Given the description of an element on the screen output the (x, y) to click on. 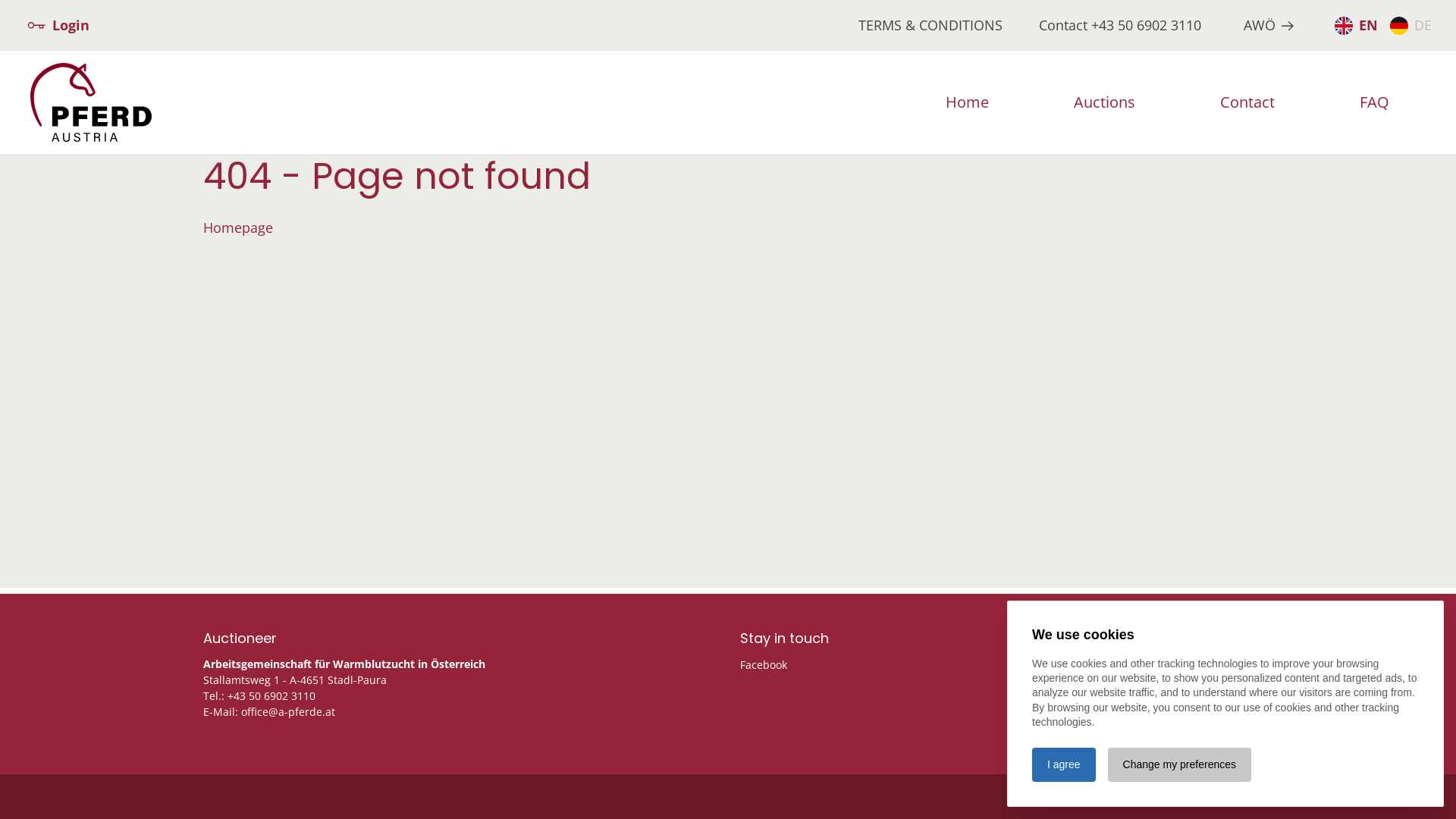
Home Element type: text (967, 101)
Facebook Element type: text (763, 664)
Contact +43 50 6902 3110 Element type: text (1119, 25)
EN Element type: text (1355, 25)
+43 50 6902 3110 Element type: text (271, 695)
Auctions Element type: text (1104, 101)
TERMS & CONDITIONS Element type: text (930, 24)
DE Element type: text (1410, 25)
Privacy Policy Element type: text (1208, 796)
FAQ Element type: text (1374, 101)
Login Element type: text (58, 25)
office@a-pferde.at Element type: text (288, 711)
Imprint Element type: text (1117, 796)
Contact Element type: text (1247, 101)
+49 441 23350133 Element type: text (1152, 711)
Homepage Element type: text (238, 227)
I agree Element type: text (1063, 764)
team@pro-bit.de Element type: text (1163, 727)
Change my preferences Element type: text (1179, 764)
